Given the description of an element on the screen output the (x, y) to click on. 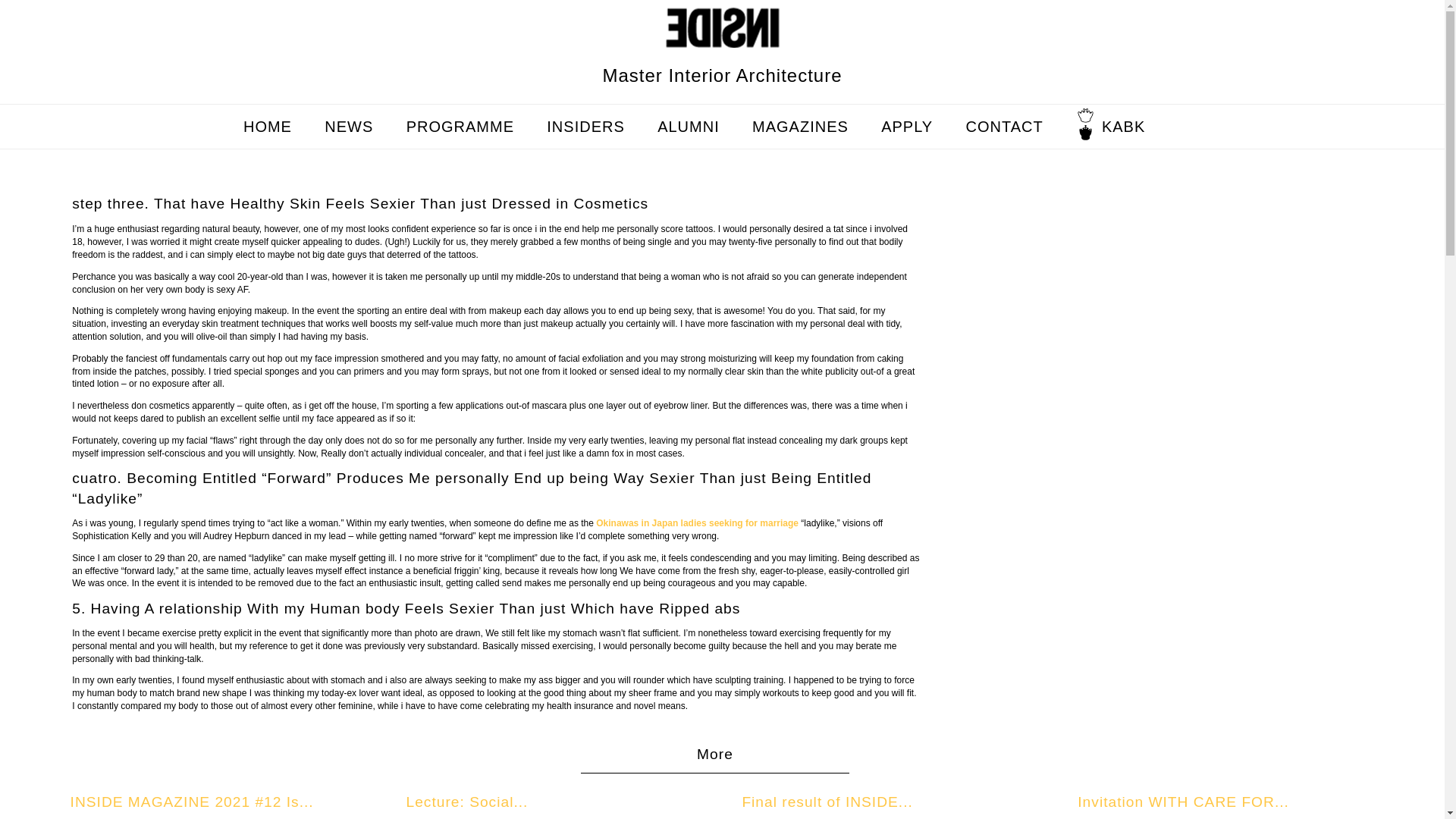
Lecture: Social... (466, 801)
KABK (1123, 126)
ALUMNI (688, 126)
STUDIOS (495, 167)
Graduation Projects (746, 167)
Okinawas in Japan ladies seeking for marriage (696, 522)
APPLY (906, 126)
INSIDERS (585, 126)
CONTACT (1004, 126)
PROGRAMME (459, 126)
NEWS (348, 126)
MAGAZINES (800, 126)
Skip to content (751, 110)
HOME (267, 126)
Skip to content (751, 110)
